Given the description of an element on the screen output the (x, y) to click on. 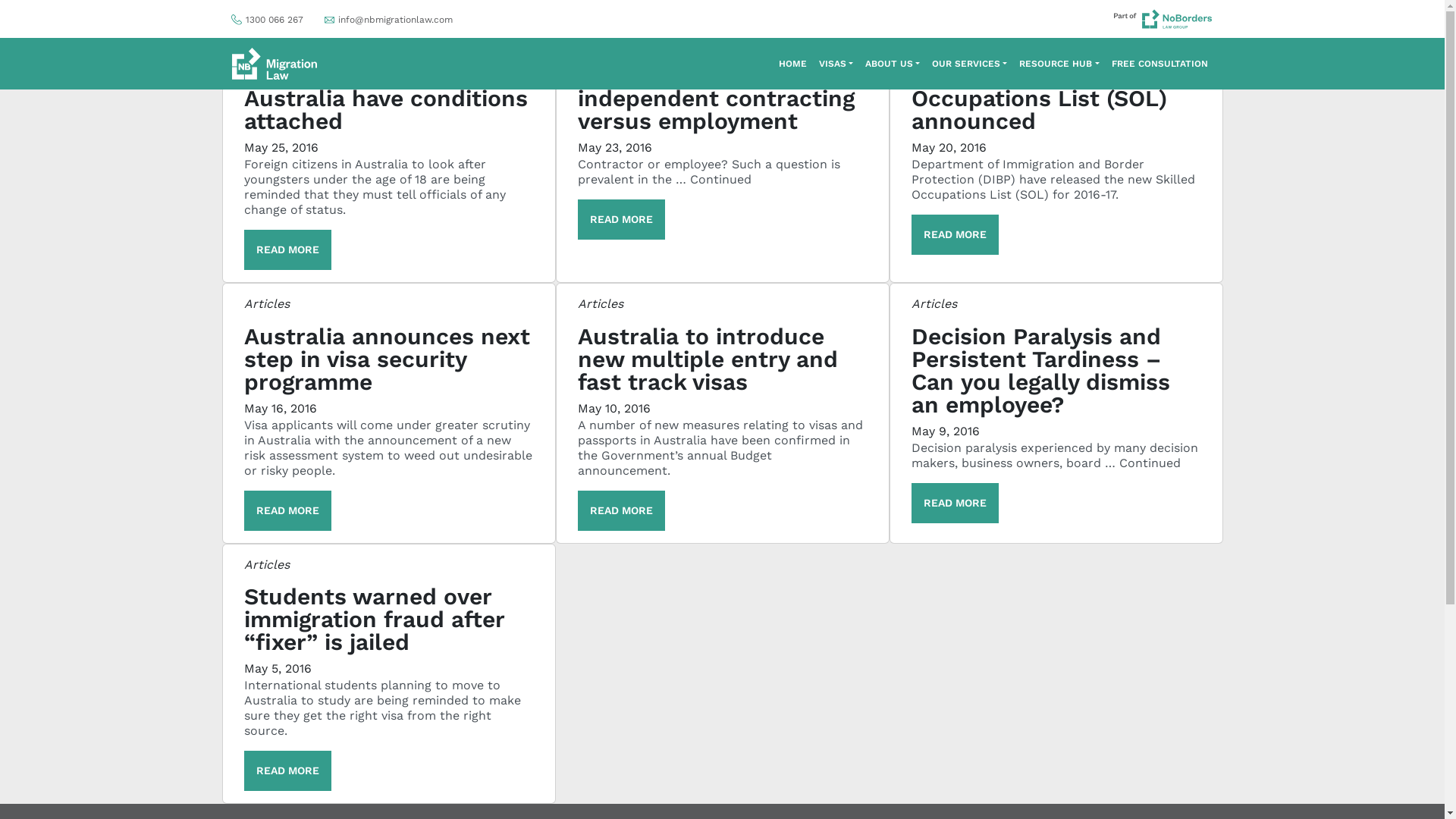
Continued Element type: text (1149, 462)
HOME Element type: text (792, 63)
READ MORE Element type: text (954, 234)
Australia announces next step in visa security programme Element type: text (387, 359)
READ MORE Element type: text (621, 219)
ABOUT US Element type: text (892, 63)
Articles Element type: text (266, 564)
OUR SERVICES Element type: text (969, 63)
Articles Element type: text (934, 43)
FREE CONSULTATION Element type: text (1159, 63)
READ MORE Element type: text (287, 249)
RESOURCE HUB Element type: text (1058, 63)
Continued Element type: text (720, 179)
Articles Element type: text (600, 303)
2016-17 Skilled Occupations List (SOL) announced Element type: text (1039, 98)
info@nbmigrationlaw.com Element type: text (388, 18)
READ MORE Element type: text (287, 510)
Articles Element type: text (600, 43)
Articles Element type: text (934, 303)
READ MORE Element type: text (621, 510)
Articles Element type: text (266, 43)
1300 066 267 Element type: text (266, 18)
VISAS Element type: text (836, 63)
READ MORE Element type: text (287, 770)
Articles Element type: text (266, 303)
READ MORE Element type: text (954, 503)
Guardian visas for Australia have conditions attached Element type: text (385, 98)
